Given the description of an element on the screen output the (x, y) to click on. 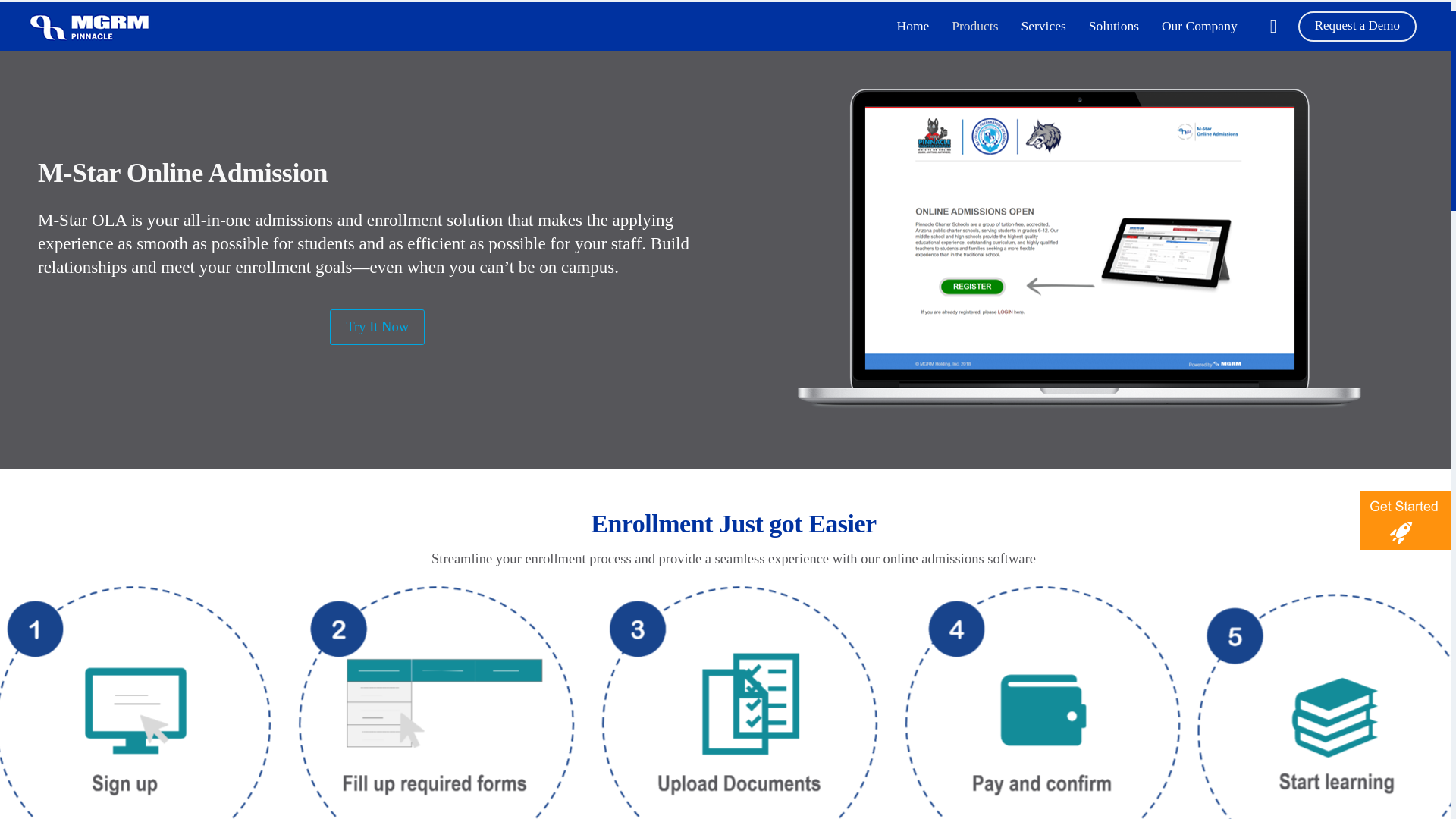
Solutions (1113, 25)
Sitemap (813, 795)
Try It Now (377, 326)
Services (1043, 25)
Our Company (1199, 25)
Products (974, 25)
Home (912, 25)
Privacy Policy (737, 795)
Request a Demo (1356, 25)
MGRM Pinnacle (90, 25)
Terms of Use (650, 795)
